Given the description of an element on the screen output the (x, y) to click on. 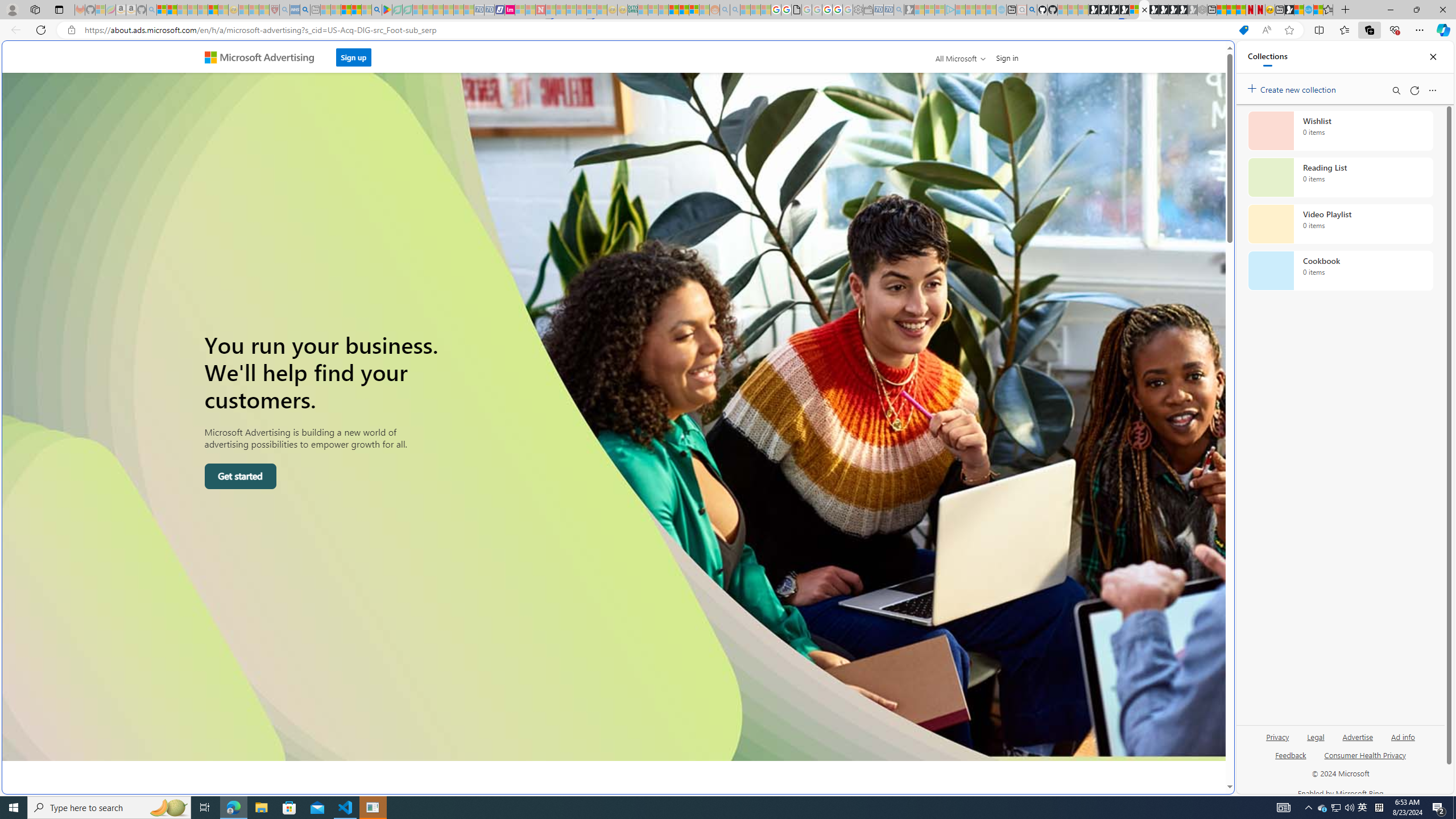
Jobs - lastminute.com Investor Portal (509, 9)
Cookbook collection, 0 items (1339, 270)
